Given the description of an element on the screen output the (x, y) to click on. 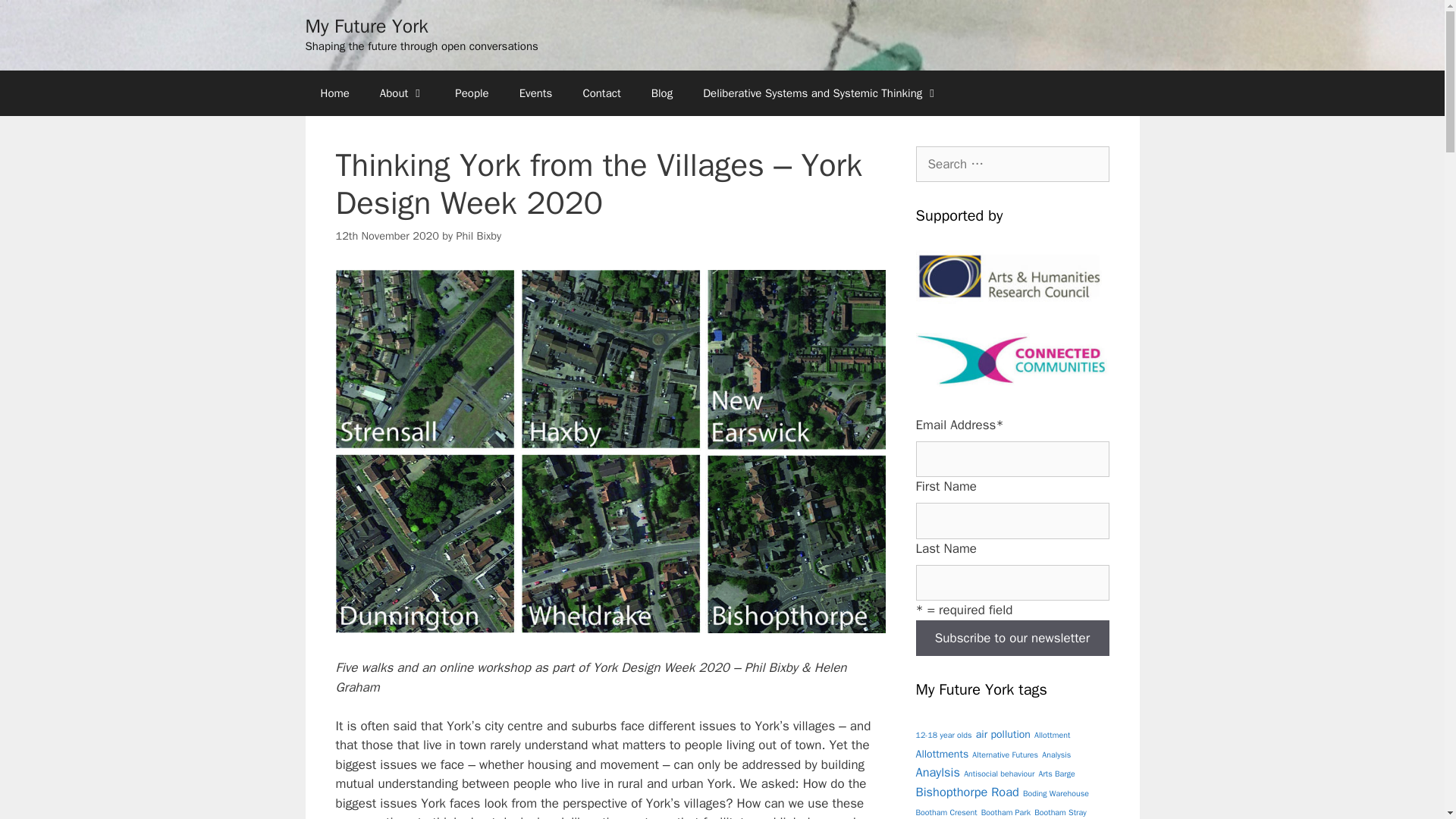
air pollution (1002, 734)
Bootham Park (1005, 812)
Blog (661, 92)
Allottments (942, 753)
Events (535, 92)
Bootham Cresent (945, 812)
My Future York (366, 25)
Search for: (1012, 163)
Deliberative Systems and Systemic Thinking (820, 92)
Search (35, 18)
Home (334, 92)
View all posts by Phil Bixby (477, 235)
Arts Barge (1056, 773)
Boding Warehouse (1056, 793)
Analysis (1056, 755)
